Given the description of an element on the screen output the (x, y) to click on. 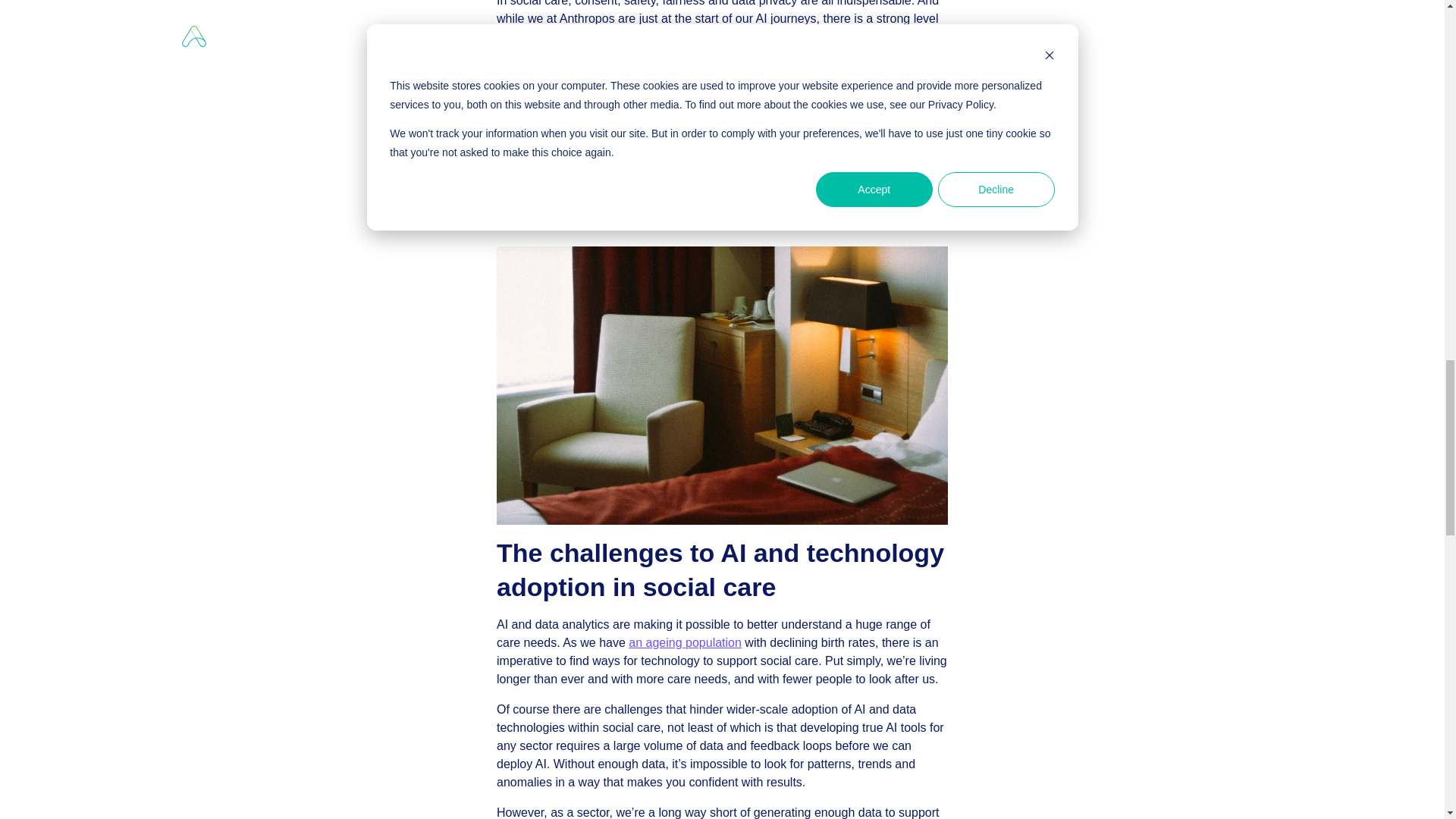
an ageing population (684, 642)
